Given the description of an element on the screen output the (x, y) to click on. 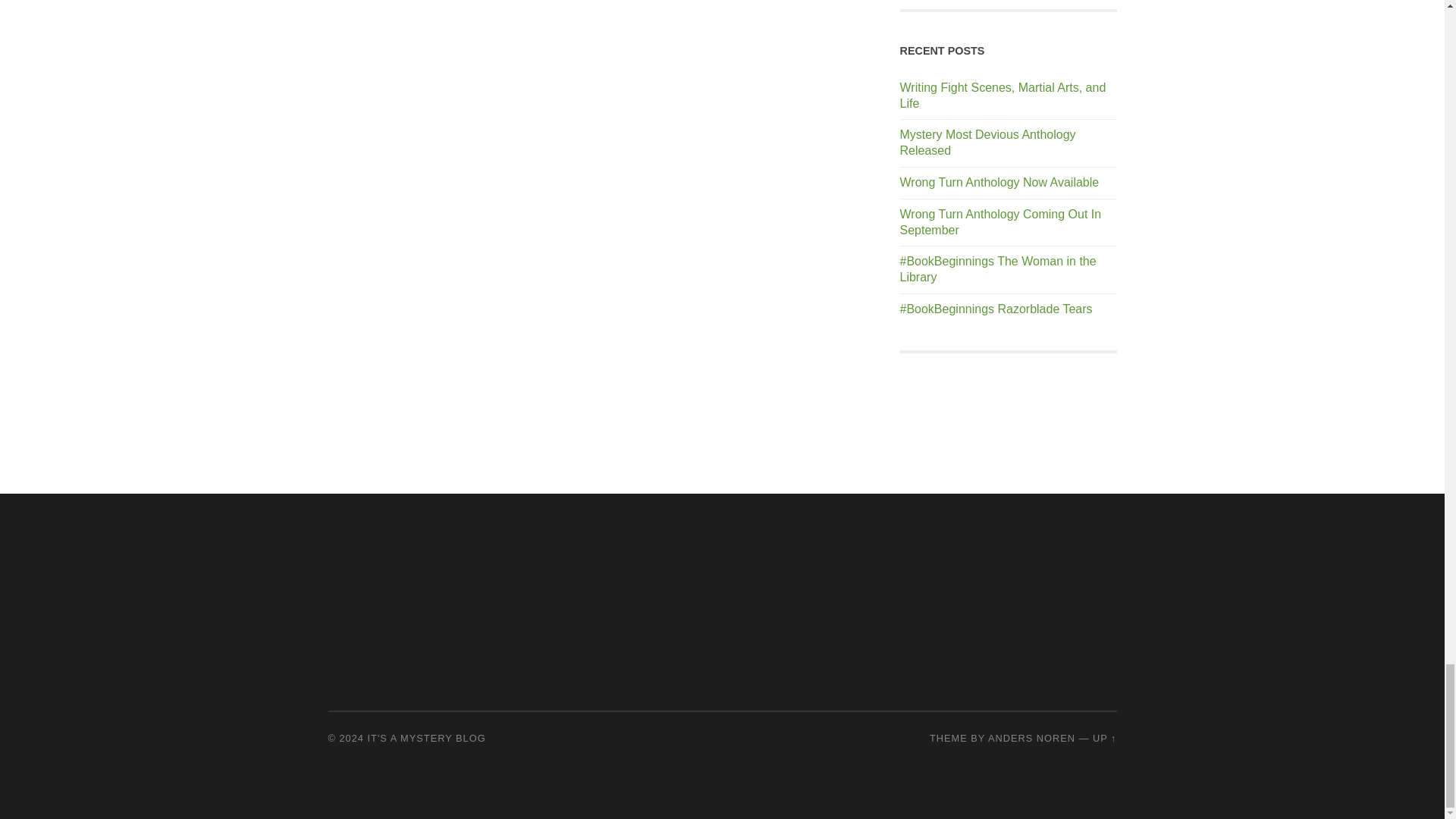
To the top (1104, 737)
